Given the description of an element on the screen output the (x, y) to click on. 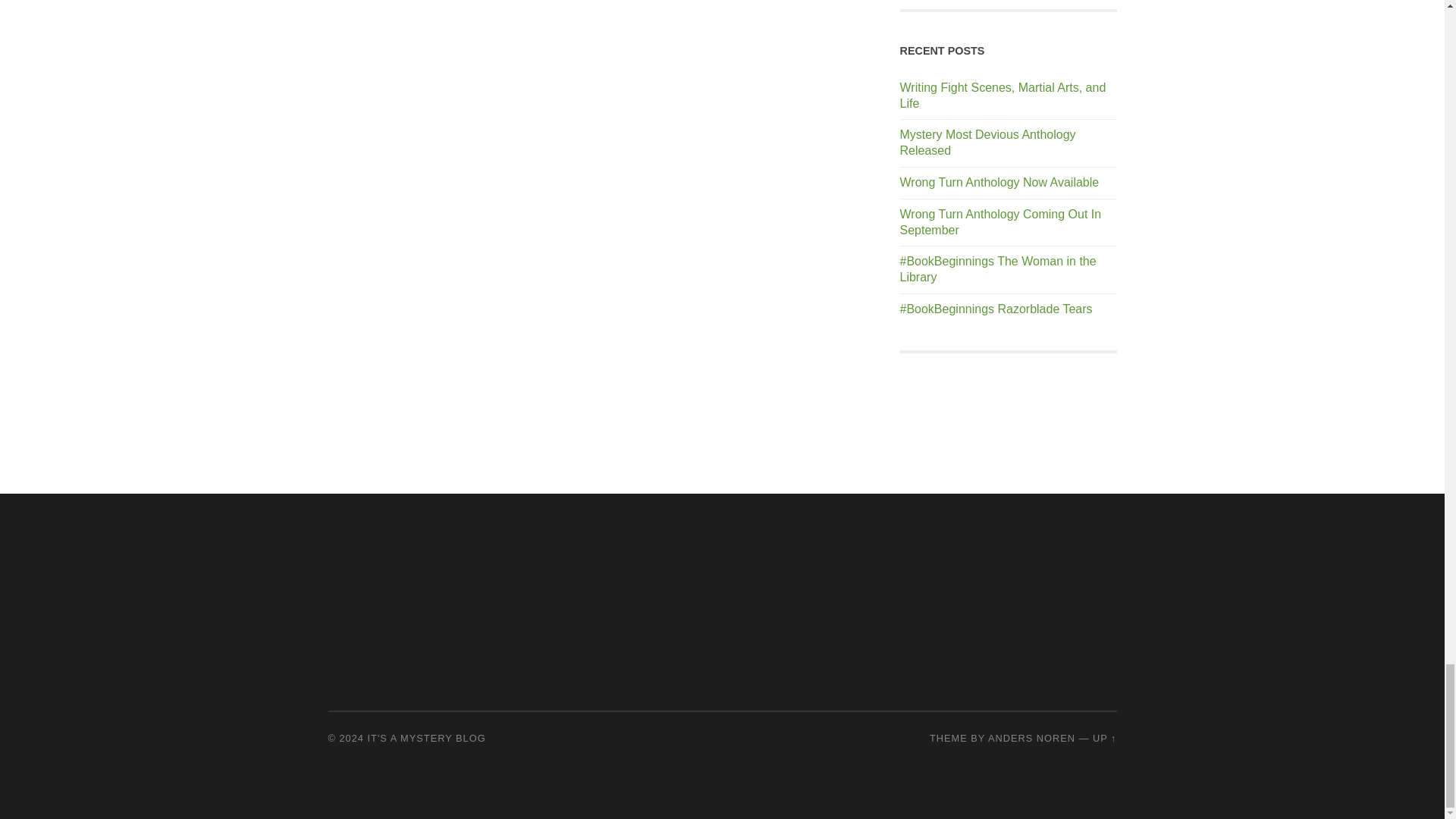
To the top (1104, 737)
